Given the description of an element on the screen output the (x, y) to click on. 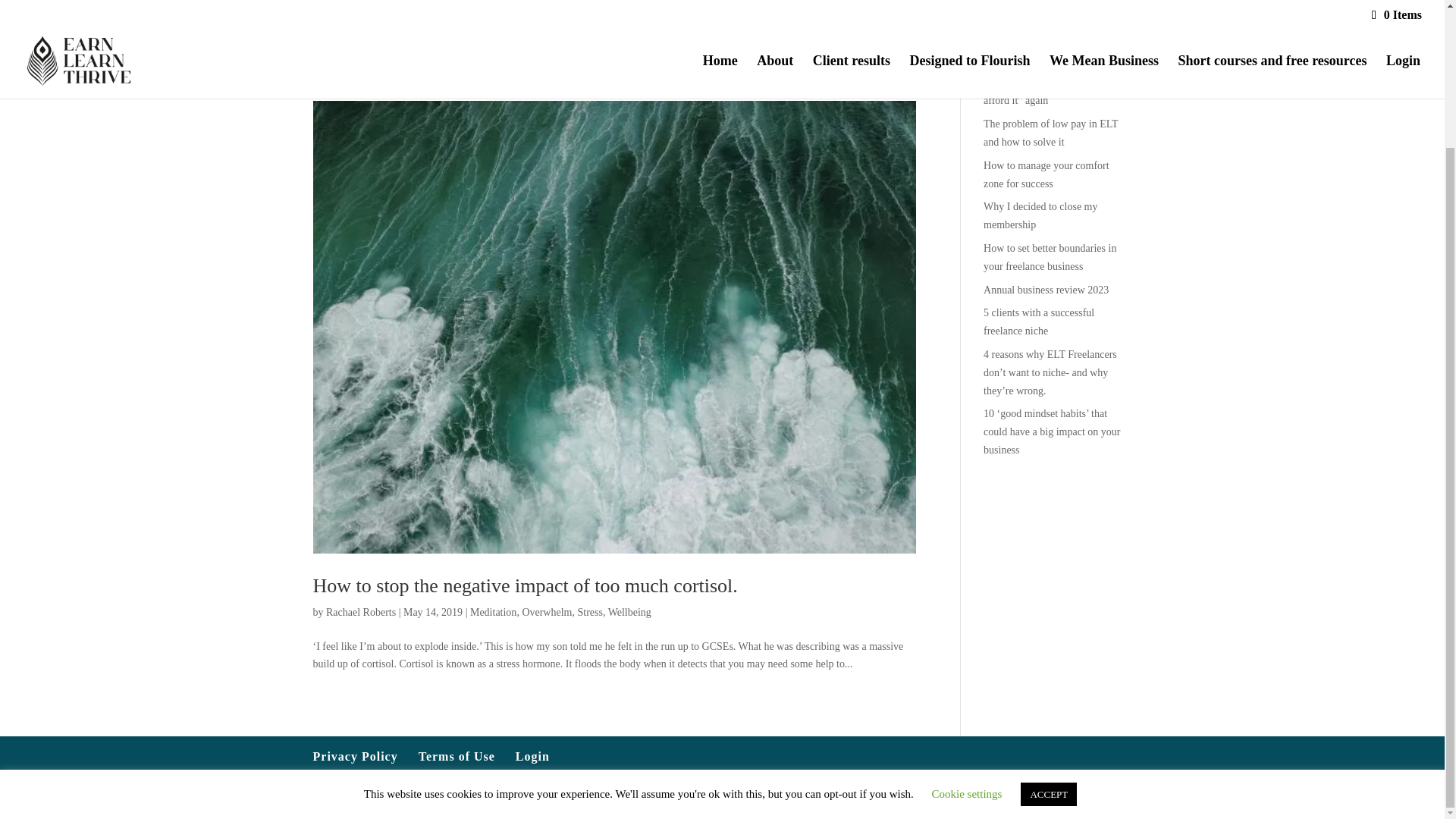
Stress (589, 612)
How to stop the negative impact of too much cortisol. (524, 585)
Rachael Roberts (361, 612)
Annual business review 2023 (1046, 289)
How to manage your comfort zone for success (1046, 174)
Meditation (493, 612)
Overwhelm (546, 612)
Why I decided to close my membership (1040, 215)
Wellbeing (629, 612)
How to work less and earn more: what to focus on (1054, 50)
